Given the description of an element on the screen output the (x, y) to click on. 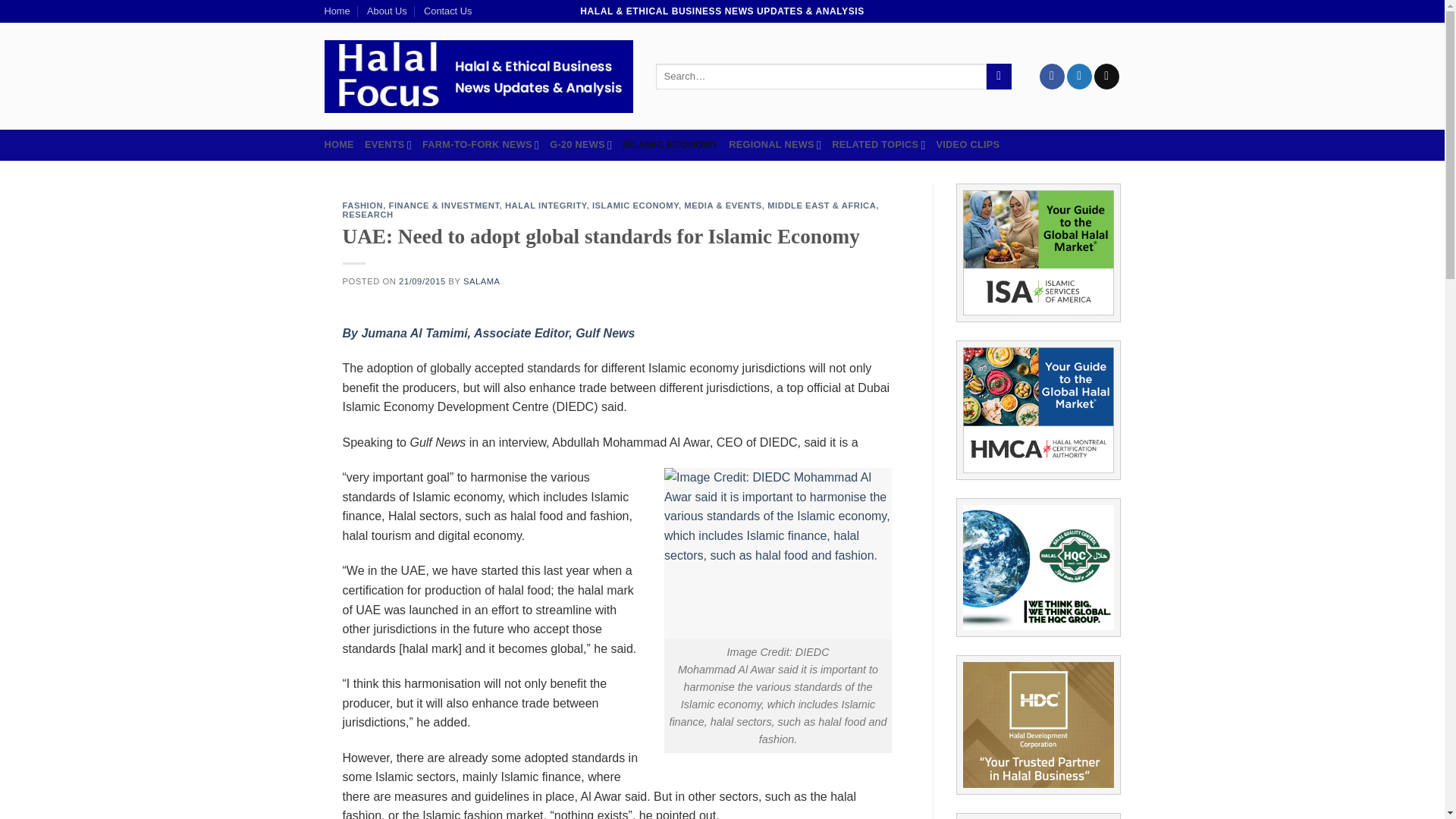
HOME (338, 144)
G-20 NEWS (580, 144)
Home (337, 11)
FARM-TO-FORK NEWS (480, 144)
Contact Us (447, 11)
About Us (386, 11)
EVENTS (388, 144)
Halal Montreal (1037, 409)
